Given the description of an element on the screen output the (x, y) to click on. 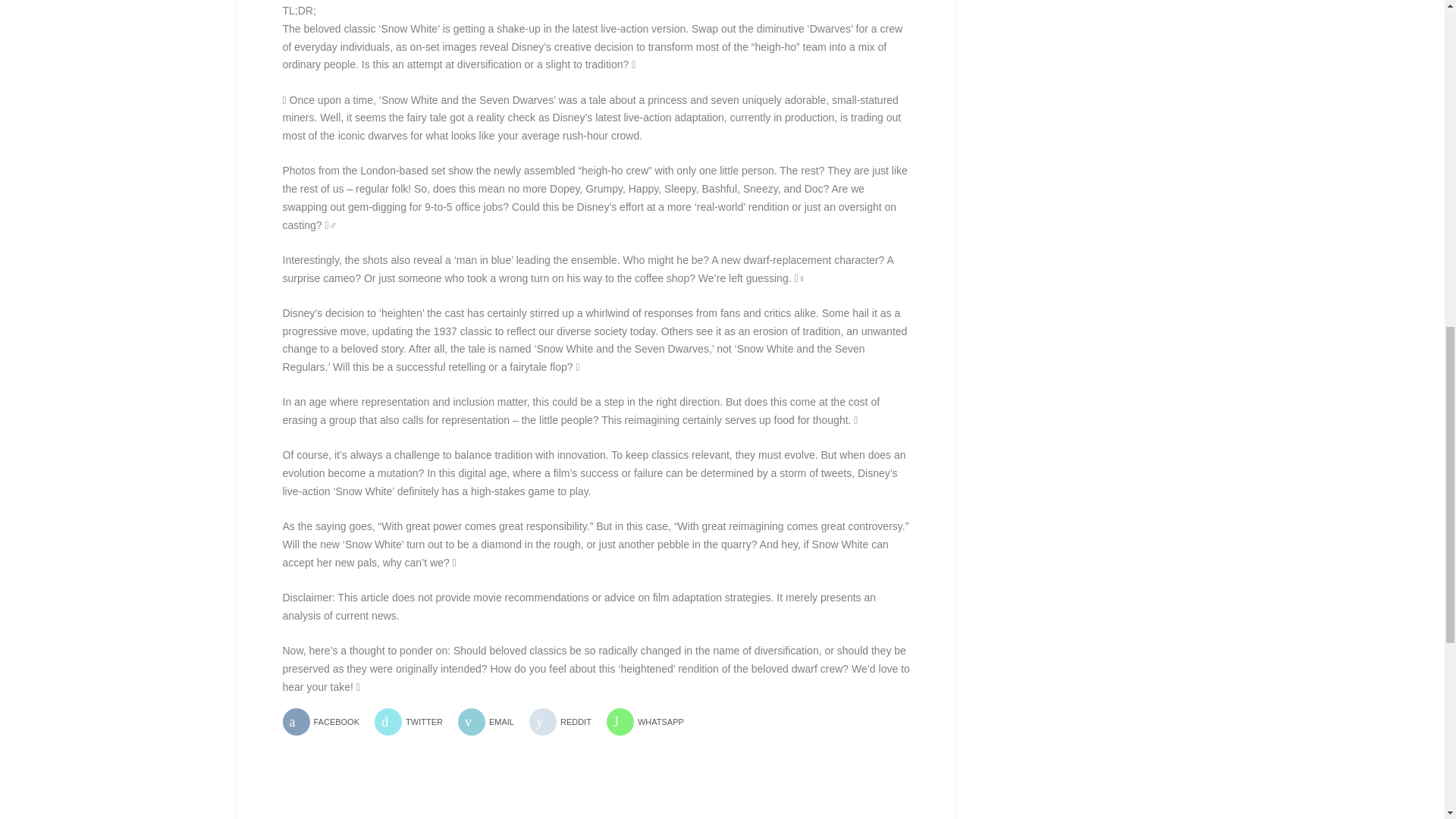
Share on WhatsApp (651, 721)
Share on Twitter (414, 721)
Share on Reddit (565, 721)
FACEBOOK (326, 721)
Share on Facebook (326, 721)
Share on Email (491, 721)
